Given the description of an element on the screen output the (x, y) to click on. 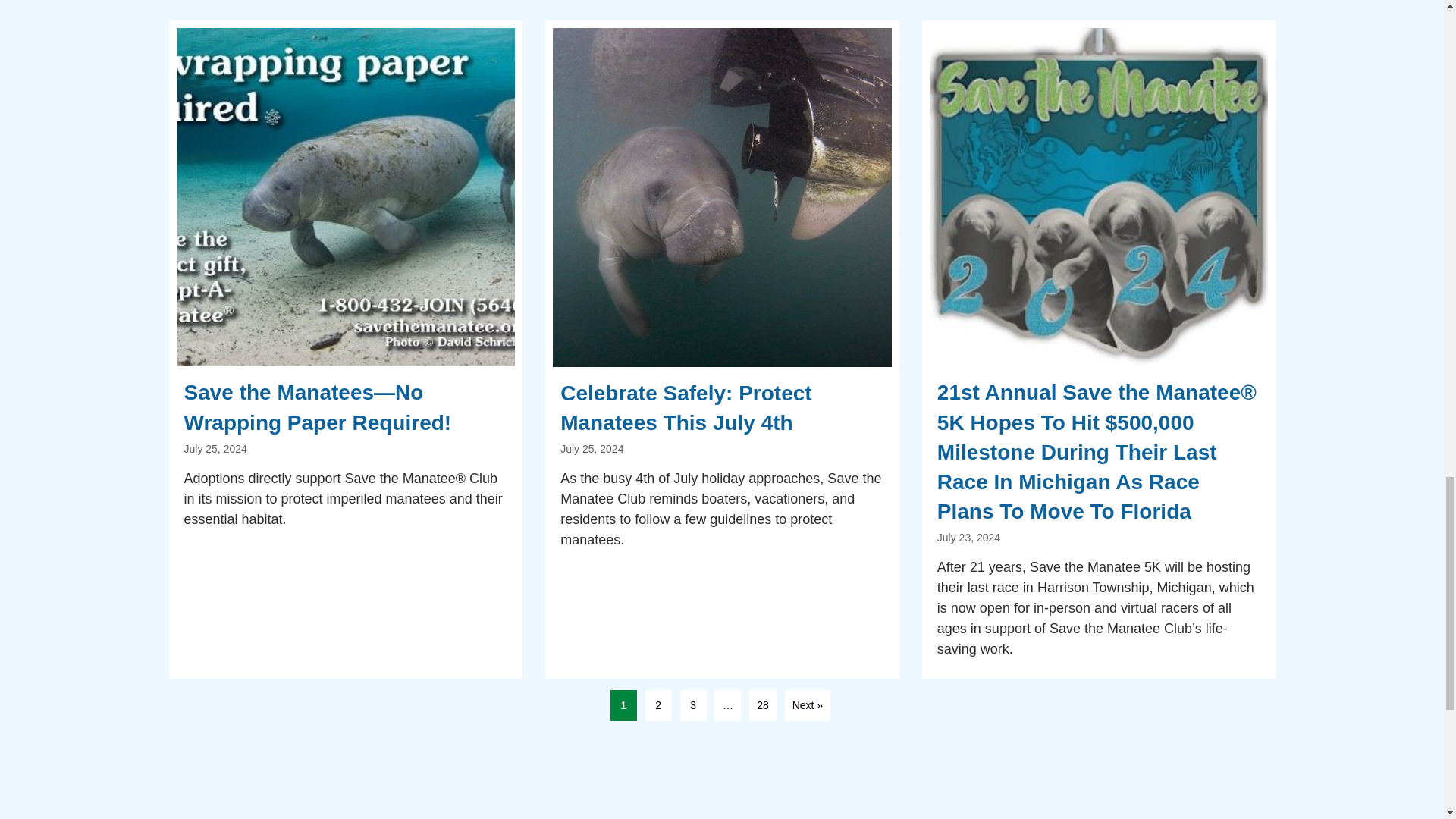
Florida Manatee (722, 196)
Blobid0 1720625845581 (1099, 196)
Blobid2 1720794056115 (345, 196)
